Given the description of an element on the screen output the (x, y) to click on. 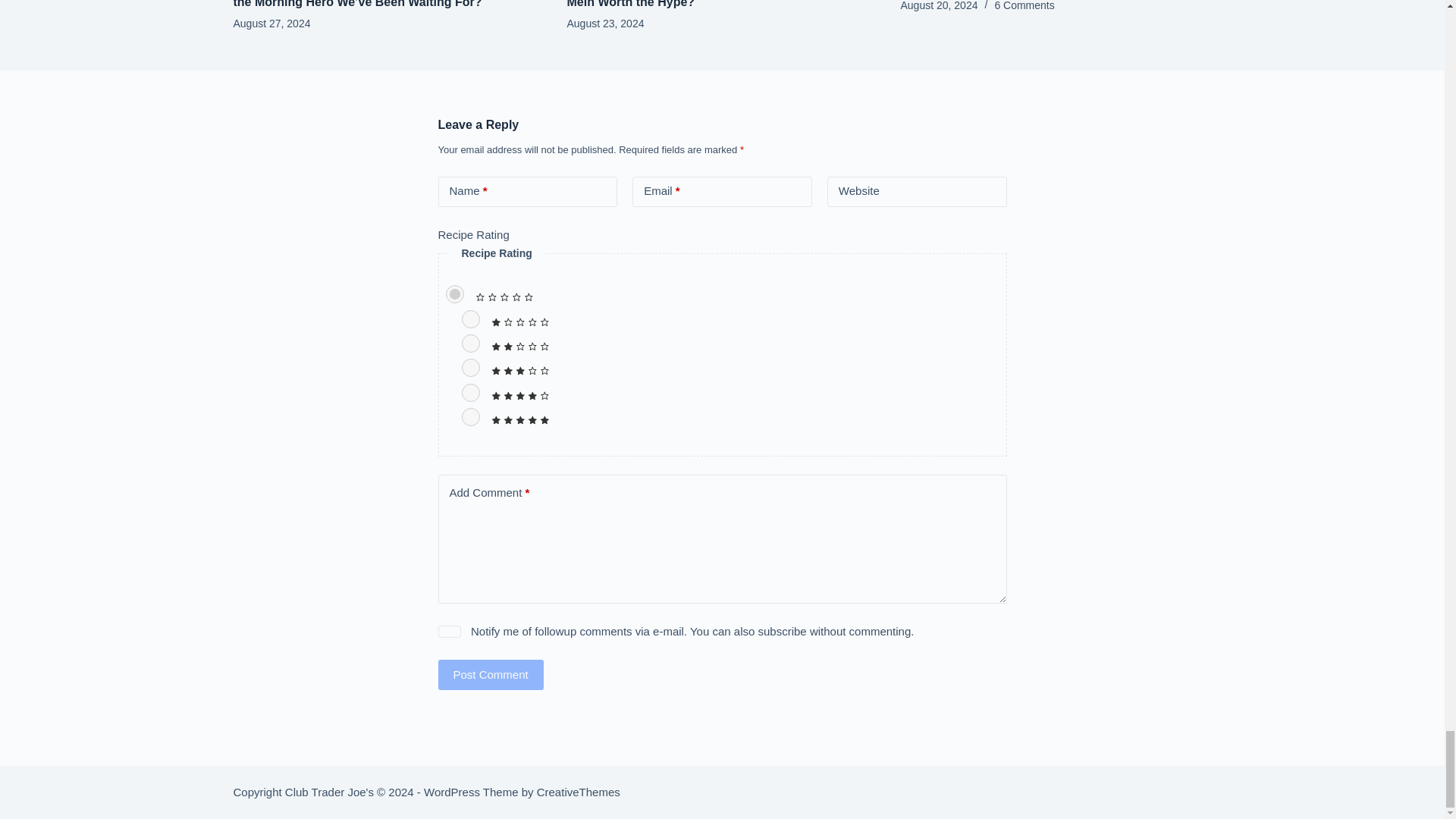
3 (470, 367)
5 (470, 416)
yes (449, 631)
1 (470, 319)
0 (454, 294)
2 (470, 343)
4 (470, 393)
